Given the description of an element on the screen output the (x, y) to click on. 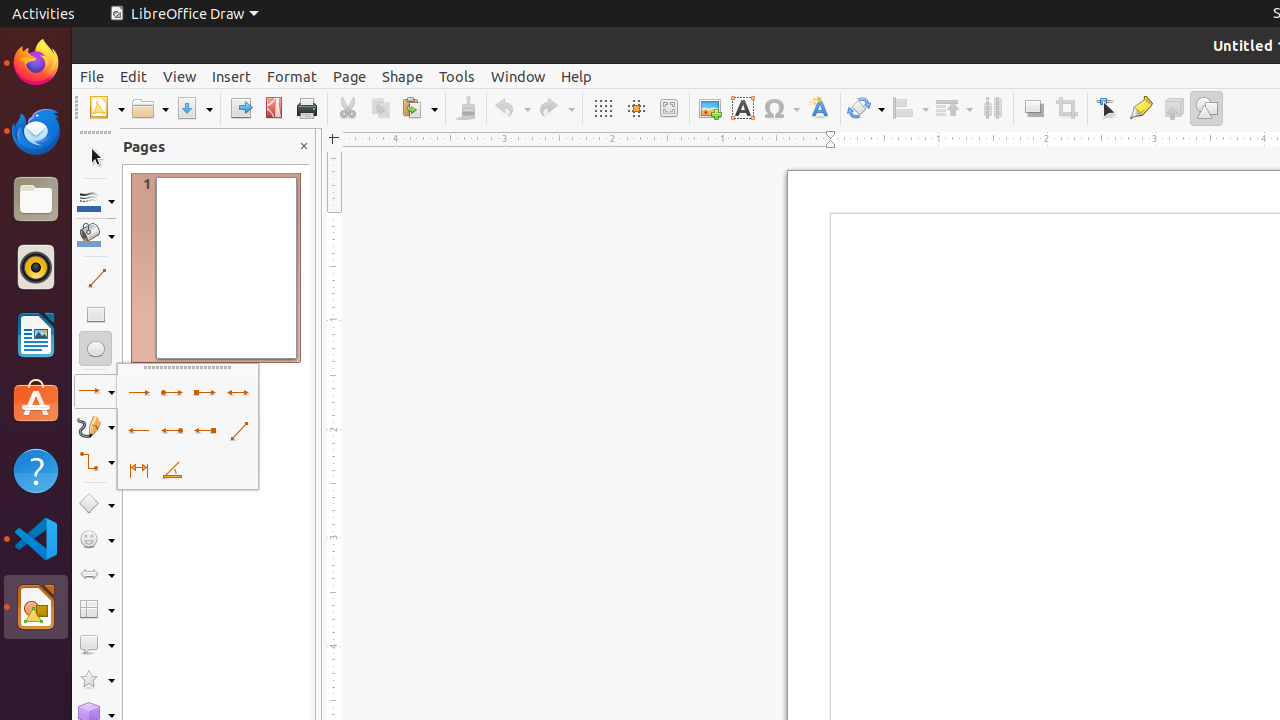
Paste Element type: push-button (419, 108)
